Given the description of an element on the screen output the (x, y) to click on. 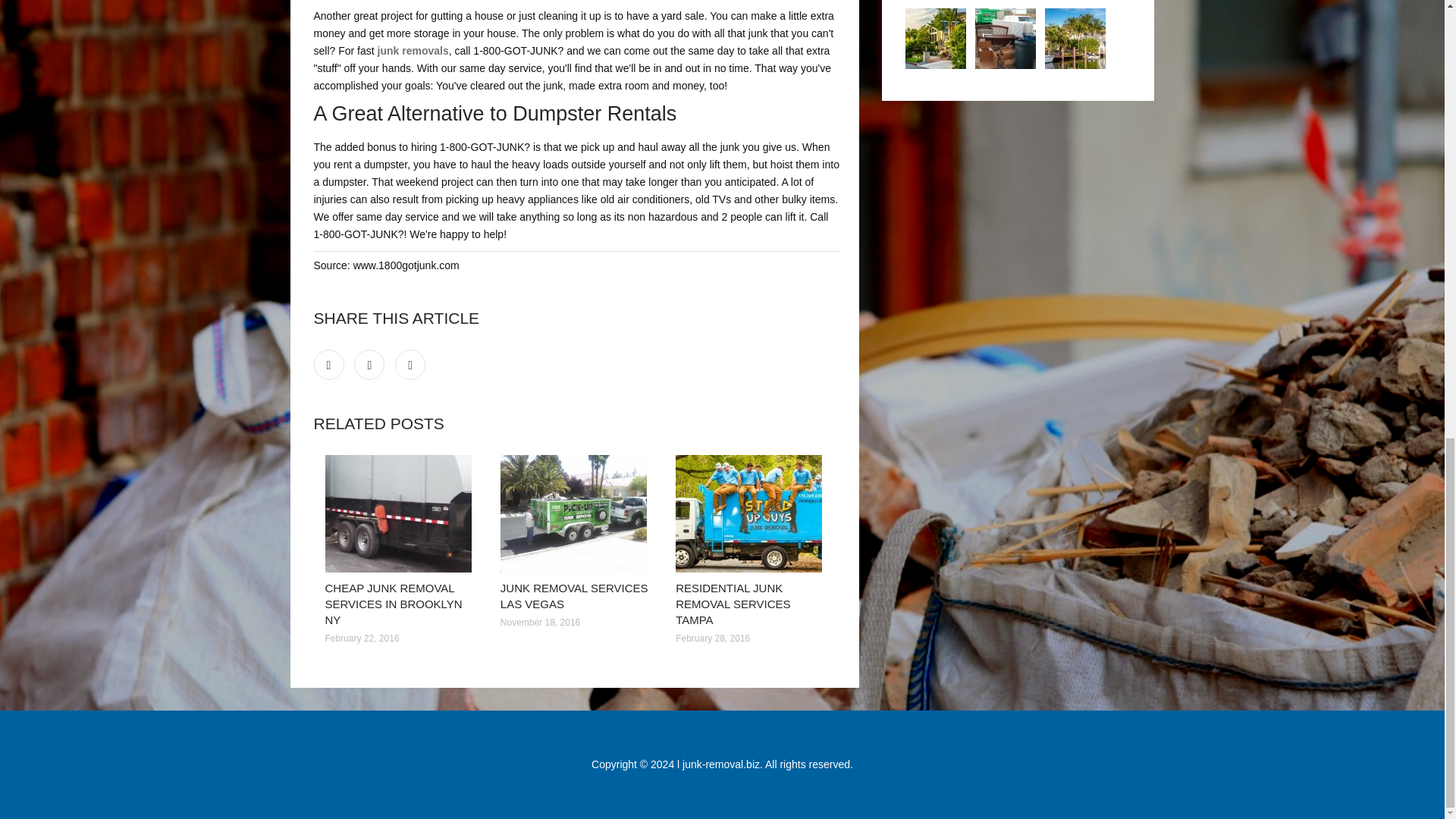
Residential Junk Removal Services Tampa (751, 513)
junk removals (412, 50)
Junk Removal Services Orange County CA (935, 38)
Cheap Junk Removal Services in Brooklyn NY (400, 513)
JUNK REMOVAL SERVICES LAS VEGAS (573, 595)
Junk Removal Services in Florida (1075, 38)
Junk Removal Services Las Vegas (576, 513)
Earthwise Hauling and Junk Removal (412, 50)
RESIDENTIAL JUNK REMOVAL SERVICES TAMPA (732, 603)
Best Junk Removal Services Lakewood (1005, 38)
